Given the description of an element on the screen output the (x, y) to click on. 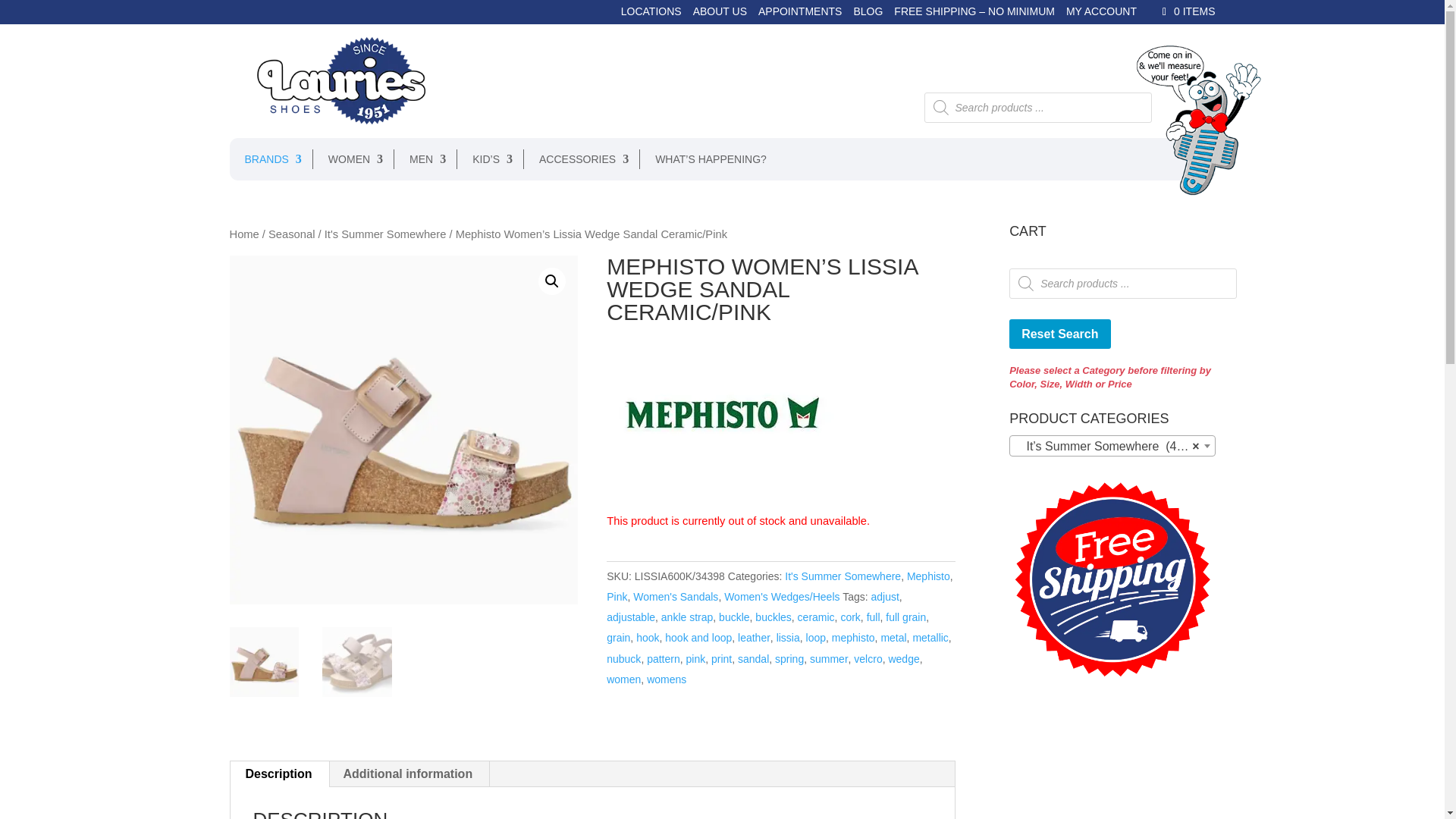
BRANDS (265, 158)
0 ITEMS (1186, 10)
Mephisto Women's Lissia Wedge Sandal Ceramic:Pink (402, 429)
ABOUT US (719, 15)
LOCATIONS (651, 15)
MY ACCOUNT (1101, 15)
BLOG (867, 15)
APPOINTMENTS (799, 15)
